Given the description of an element on the screen output the (x, y) to click on. 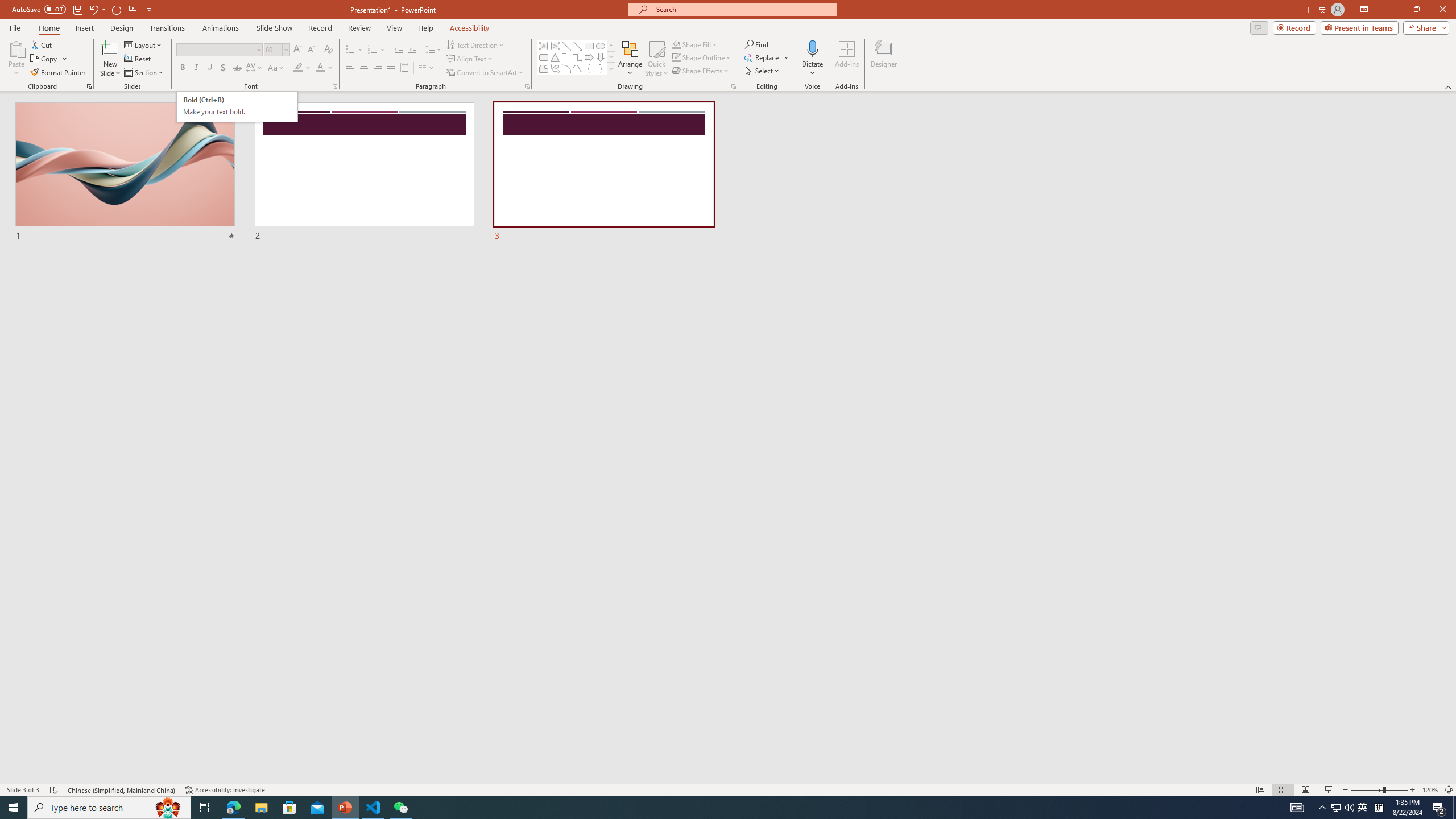
File Tab (15, 27)
Accessibility Checker Accessibility: Investigate (226, 790)
Dictate (812, 58)
Spell Check No Errors (54, 790)
Rectangle (589, 45)
Freeform: Shape (543, 68)
Zoom Out (1367, 790)
Text Box (543, 45)
System (6, 6)
Quick Access Toolbar (82, 9)
Office Clipboard... (88, 85)
Curve (577, 68)
Increase Indent (412, 49)
